Given the description of an element on the screen output the (x, y) to click on. 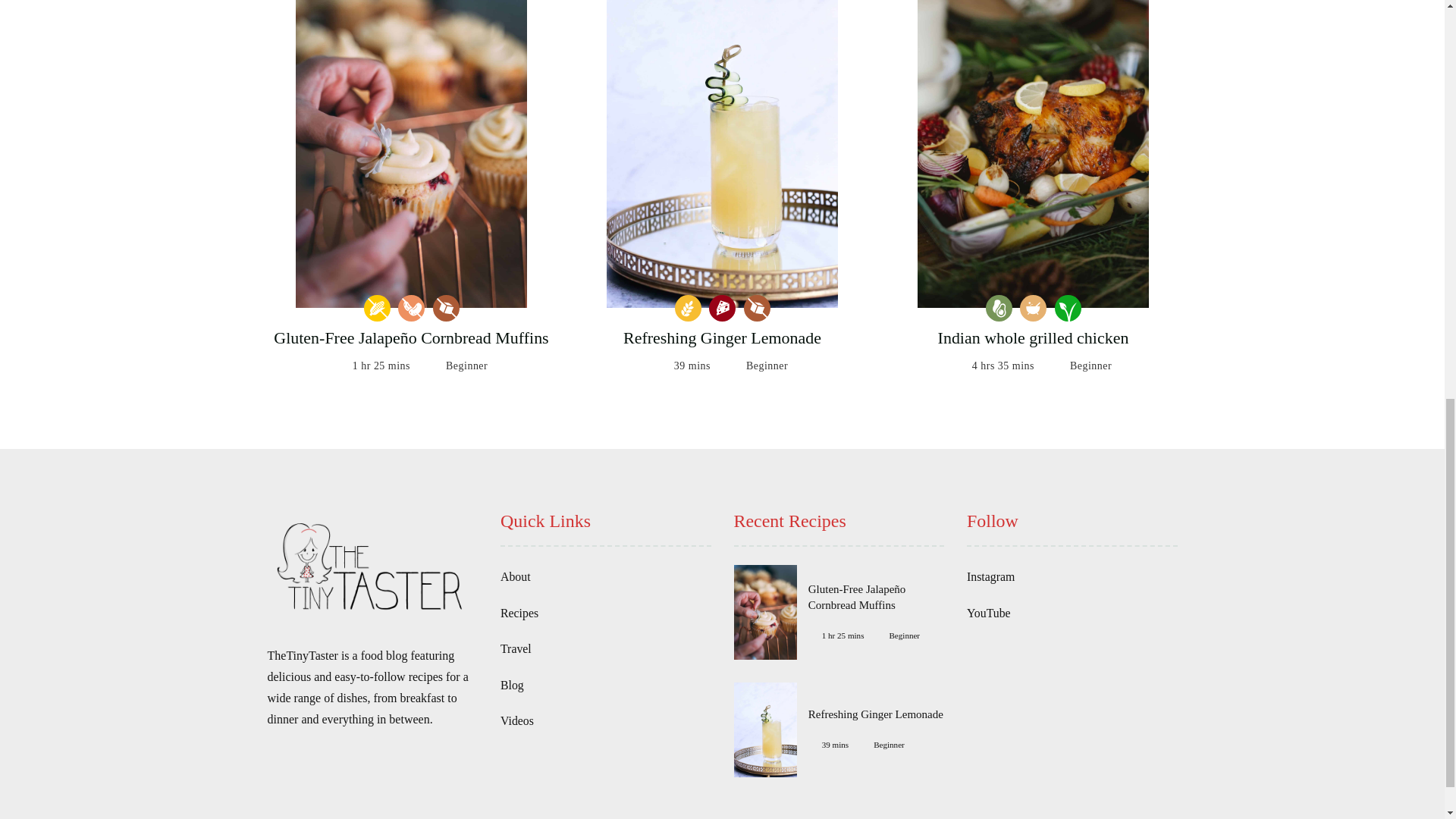
quick-meals (1033, 307)
Corn Free (377, 307)
Gluten Free (688, 307)
soy-free (411, 307)
high-protein (722, 307)
keto (998, 307)
Vegan (1067, 307)
Sugar Free (756, 307)
Keto (998, 307)
sugar-free (445, 307)
